Given the description of an element on the screen output the (x, y) to click on. 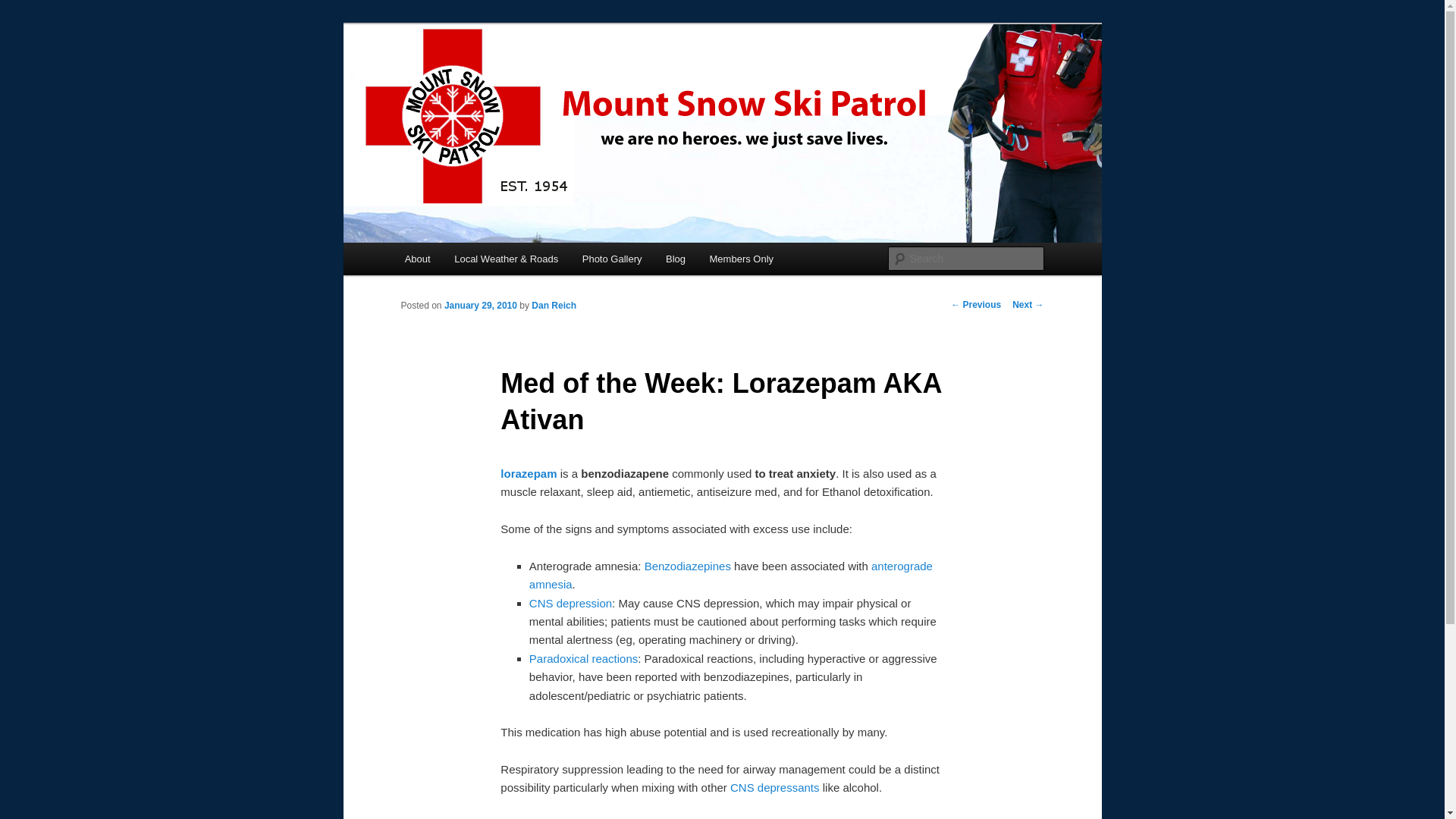
Depressant (774, 787)
Skip to secondary content (479, 261)
CNS depression (570, 603)
Paradoxical reactions (583, 658)
Paradoxical reaction (583, 658)
lorazepam (528, 472)
Mount Snow Ski Patrol (523, 78)
12:15 pm (480, 305)
Members Only (741, 258)
Dan Reich (553, 305)
Mount Snow Ski Patrol (523, 78)
Central nervous system depression (570, 603)
anterograde amnesia (731, 574)
View all posts by Dan Reich (553, 305)
Blog (675, 258)
